Given the description of an element on the screen output the (x, y) to click on. 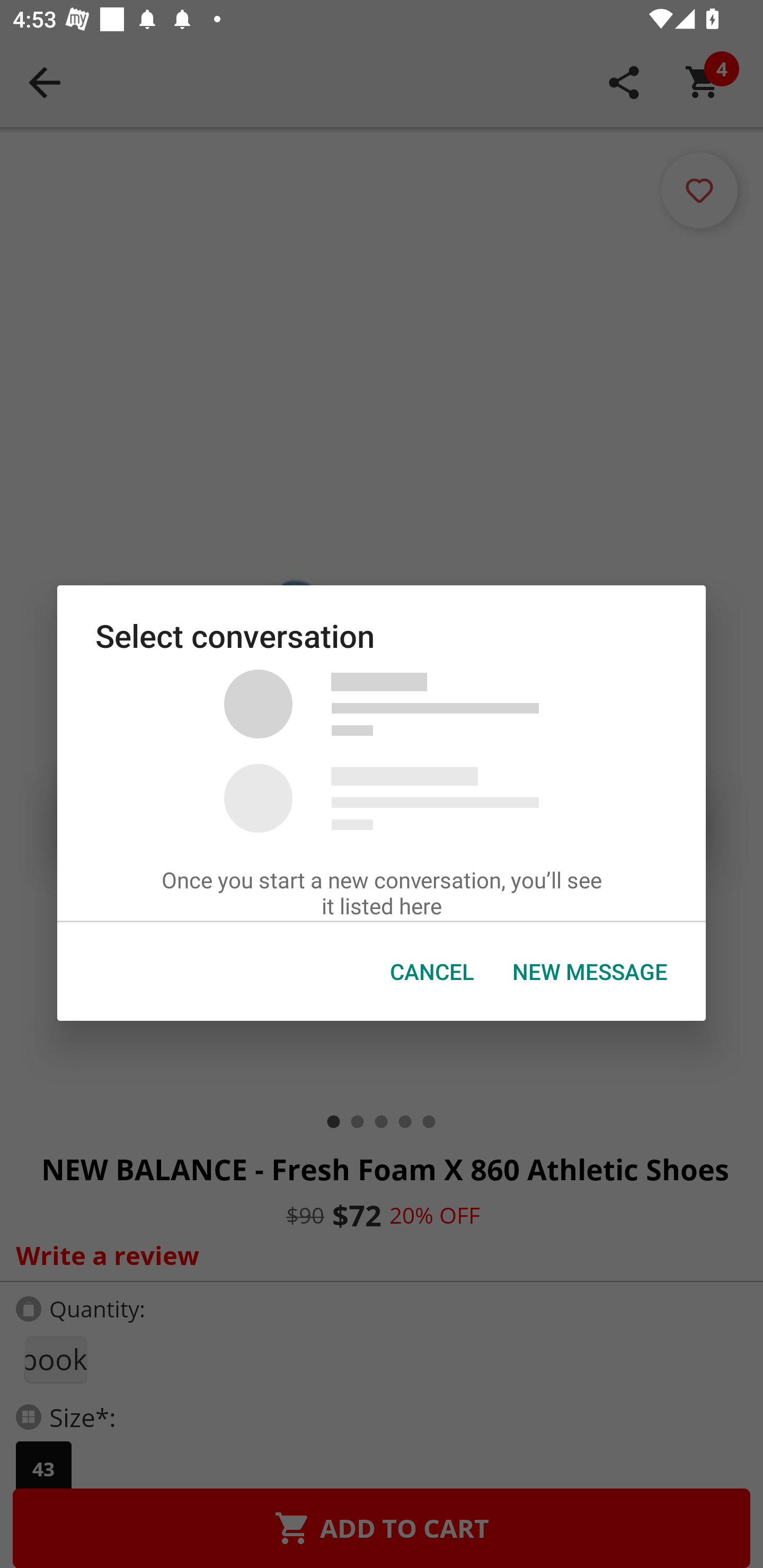
CANCEL (431, 971)
NEW MESSAGE (589, 971)
